Given the description of an element on the screen output the (x, y) to click on. 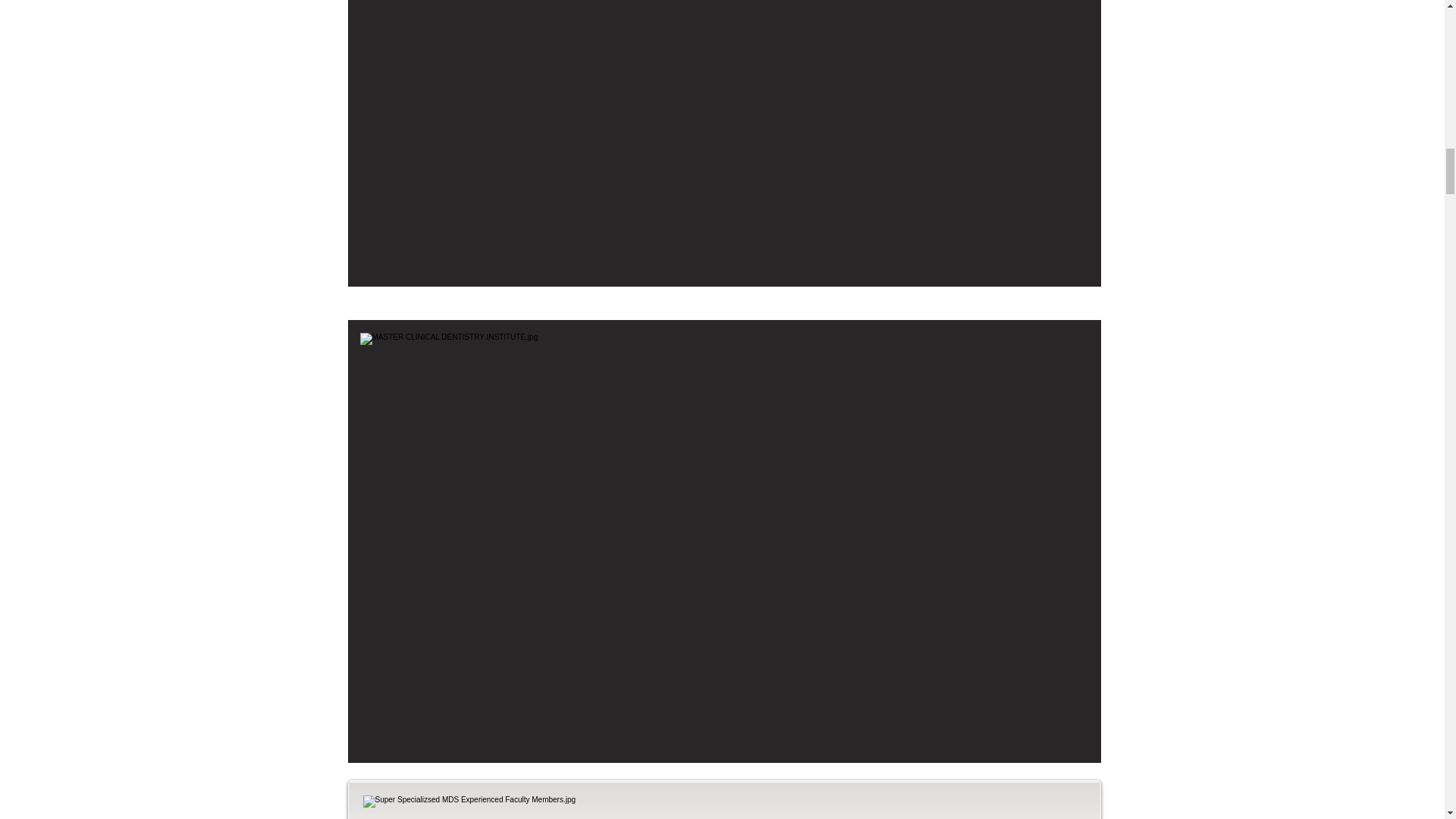
inbde prep (723, 807)
